Given the description of an element on the screen output the (x, y) to click on. 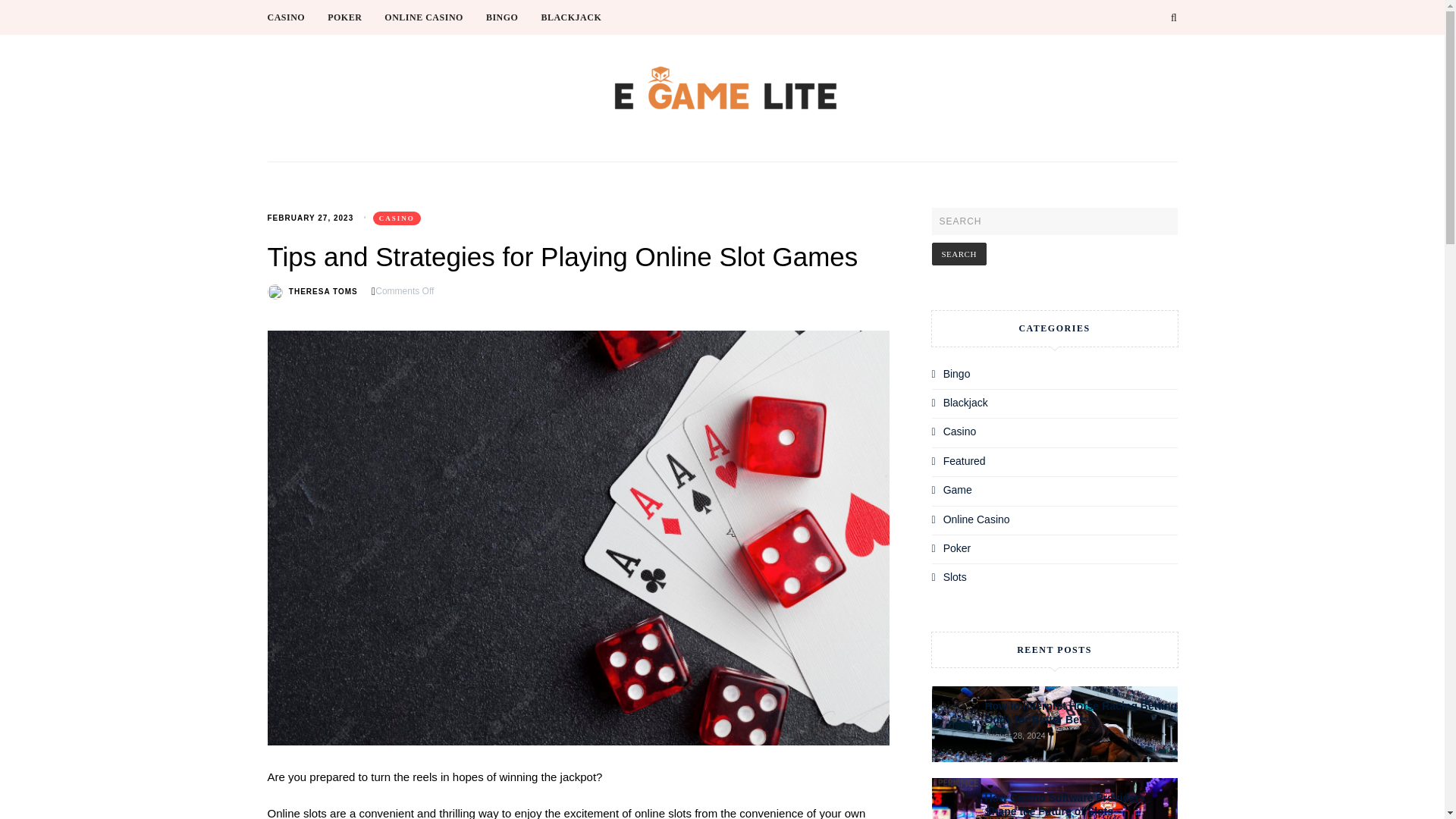
Game (957, 490)
Bingo (957, 373)
Posts by Theresa Toms (323, 291)
Slots (954, 576)
Search (958, 253)
How Casino Software Providers Shape the Future of Slots (1064, 804)
FEBRUARY 27, 2023 (309, 217)
THERESA TOMS (323, 291)
Featured (964, 460)
Online Casino (976, 519)
